Given the description of an element on the screen output the (x, y) to click on. 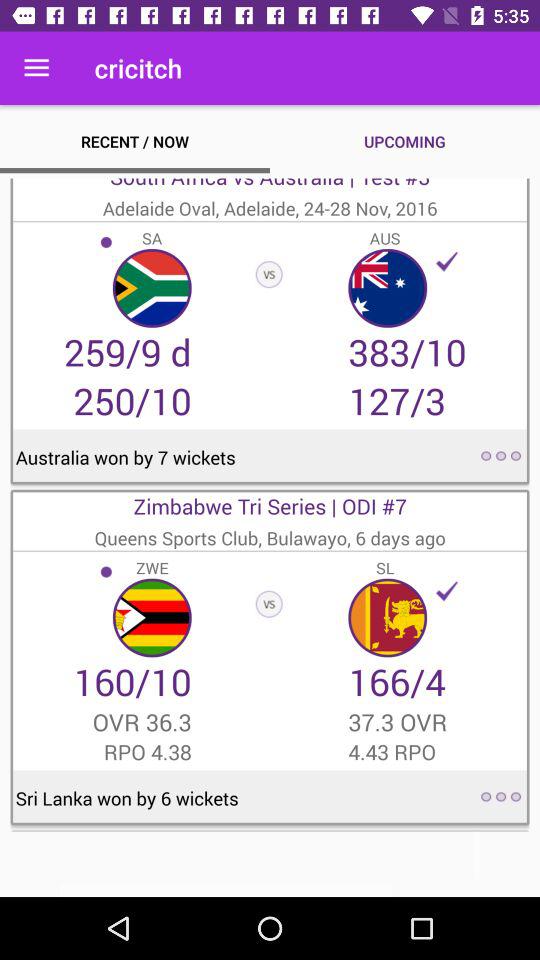
press item below the sri lanka won (270, 863)
